Given the description of an element on the screen output the (x, y) to click on. 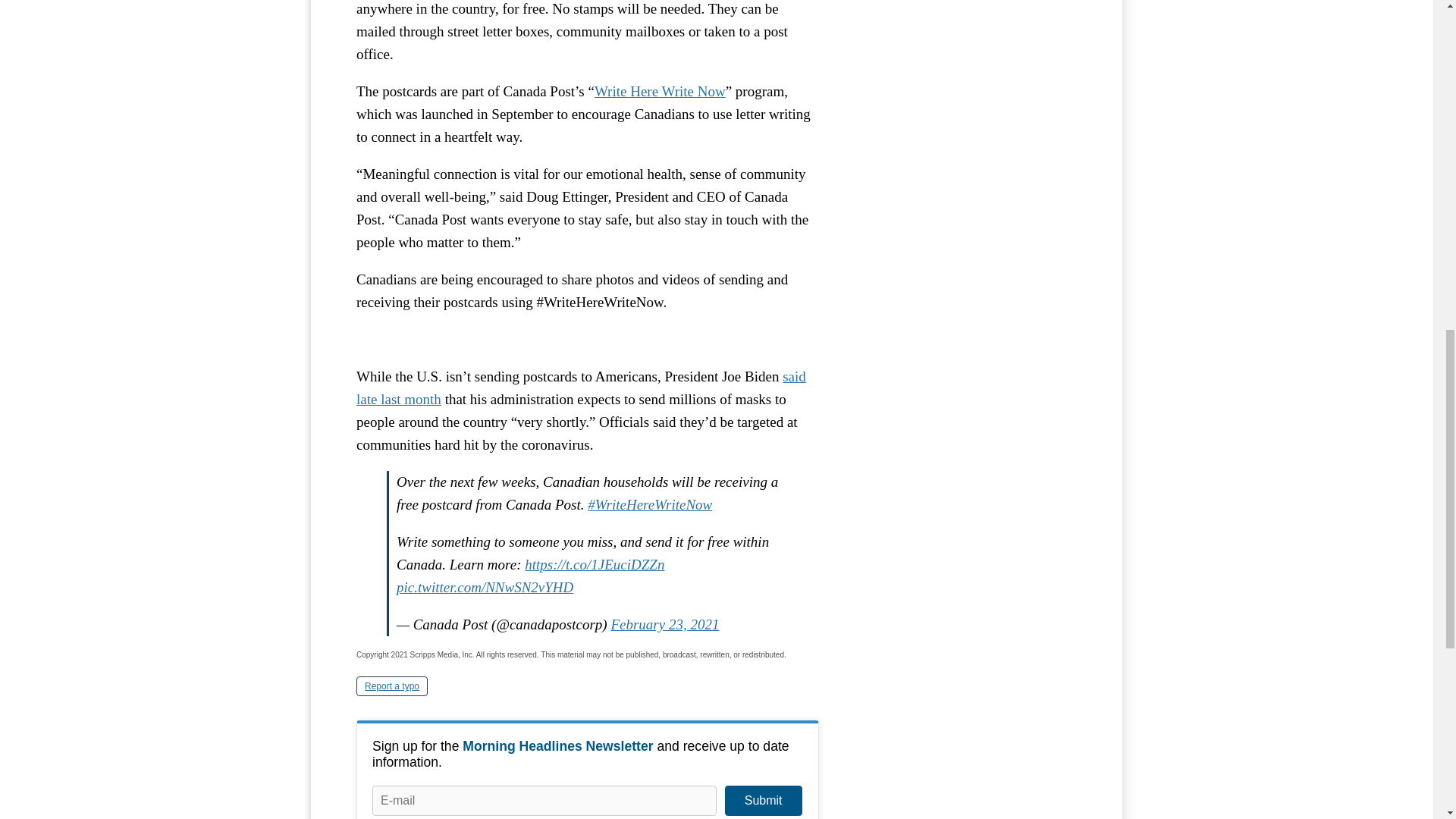
Submit (763, 800)
